Given the description of an element on the screen output the (x, y) to click on. 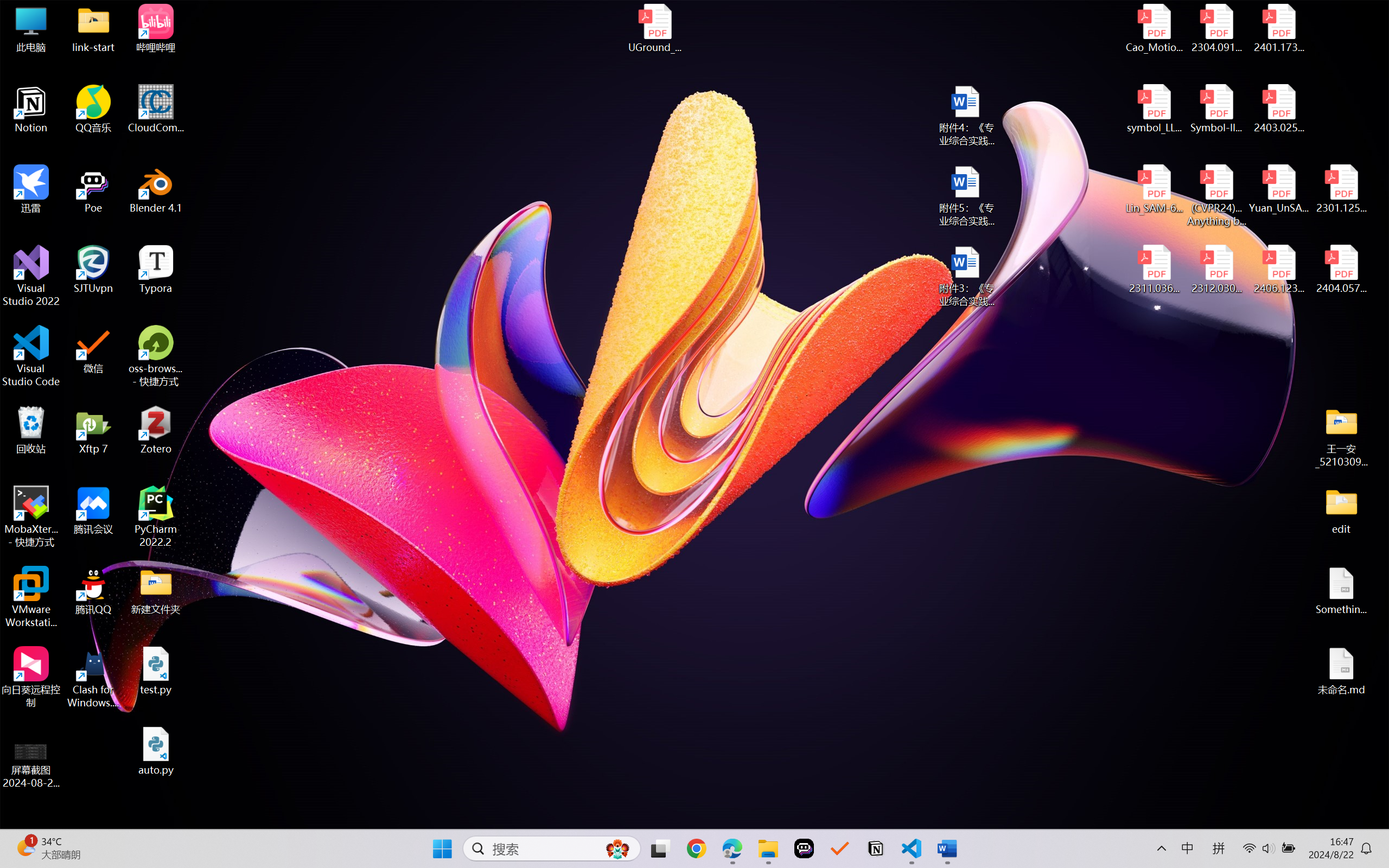
Visual Studio 2022 (31, 276)
2312.03032v2.pdf (1216, 269)
Symbol-llm-v2.pdf (1216, 109)
SJTUvpn (93, 269)
